Given the description of an element on the screen output the (x, y) to click on. 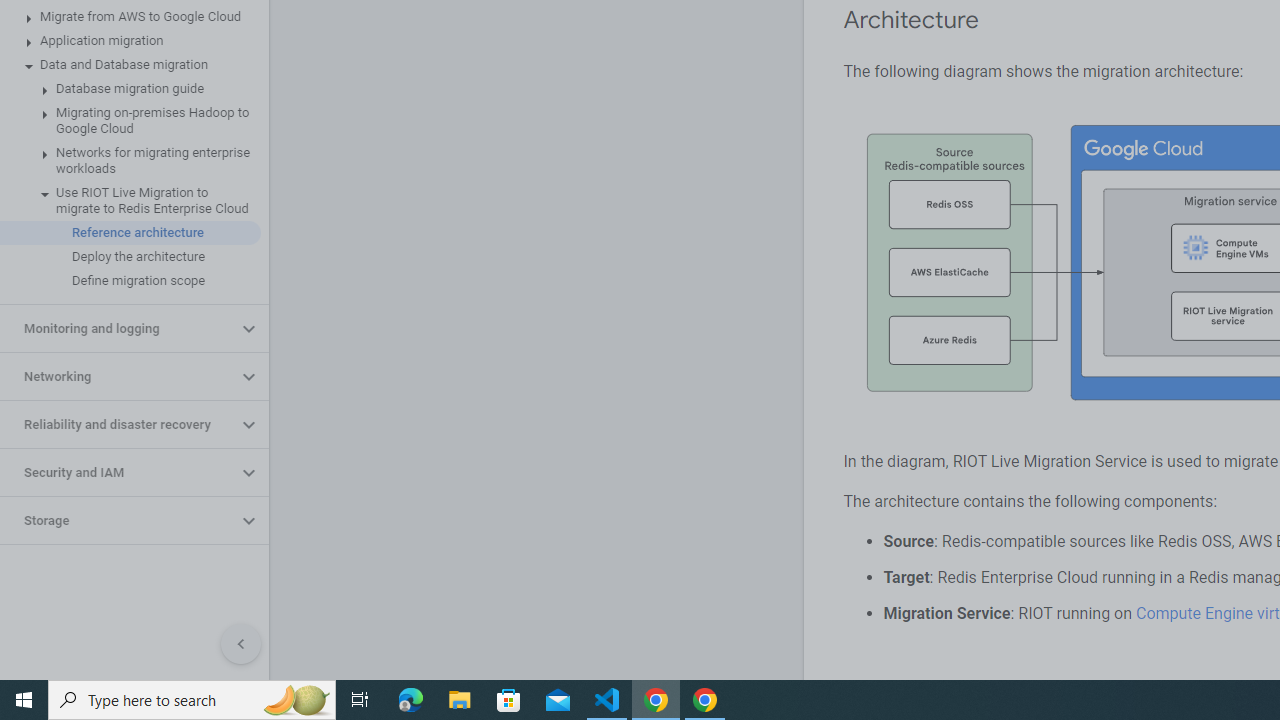
Reliability and disaster recovery (118, 425)
Copy link to this section: Architecture (997, 20)
Database migration guide (130, 88)
Data and Database migration (130, 65)
Security and IAM (118, 472)
Monitoring and logging (118, 328)
Networking (118, 376)
Hide side navigation (241, 643)
Storage (118, 520)
Deploy the architecture (130, 256)
Migrate from AWS to Google Cloud (130, 16)
Reference architecture (130, 232)
Migrating on-premises Hadoop to Google Cloud (130, 120)
Application migration (130, 40)
